Given the description of an element on the screen output the (x, y) to click on. 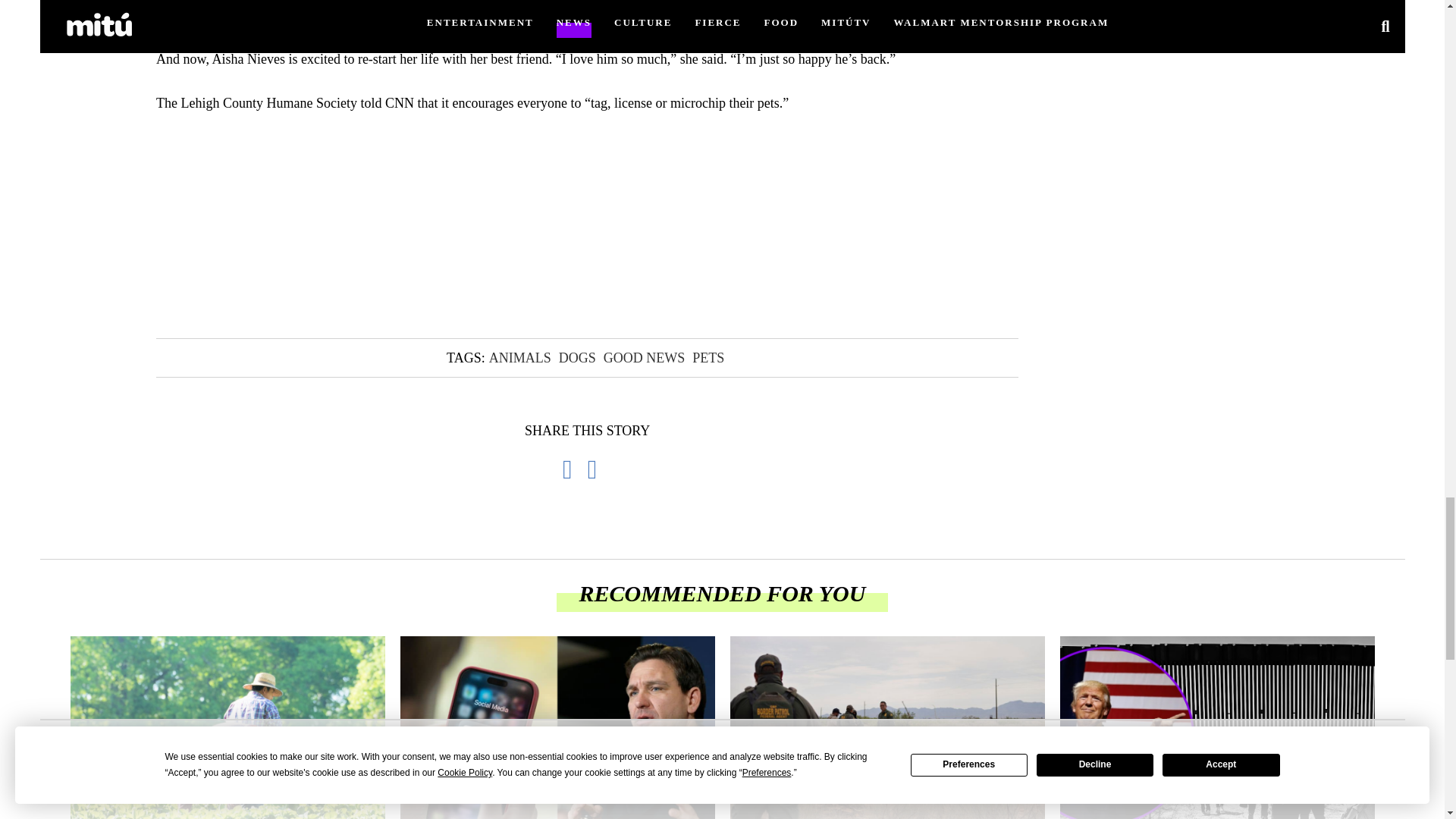
ANIMALS (519, 357)
Share via Email (600, 469)
Share on Facebook (575, 469)
DOGS (576, 357)
PETS (708, 357)
GOOD NEWS (643, 357)
